Given the description of an element on the screen output the (x, y) to click on. 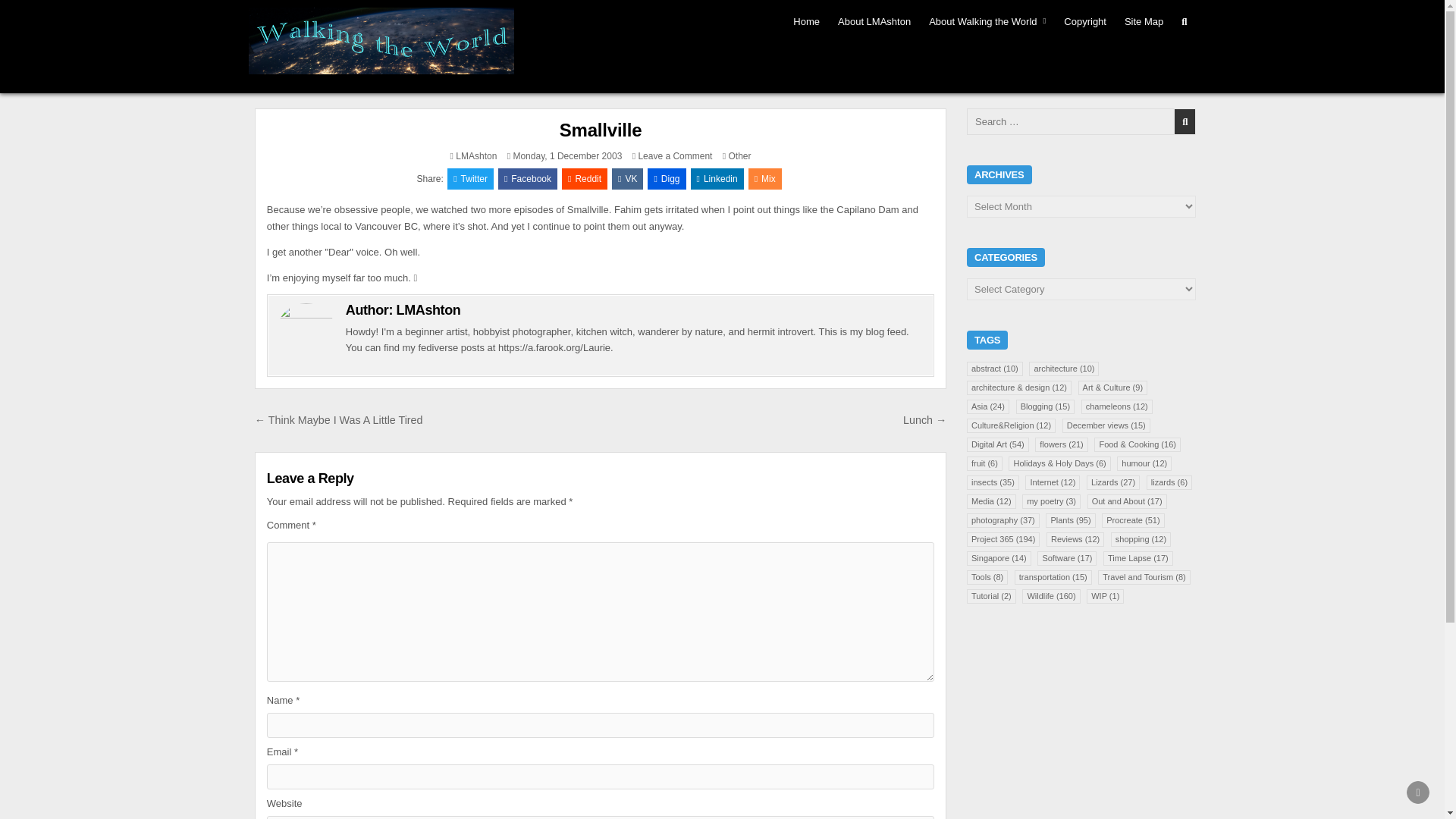
Smallville (600, 129)
Share this on Linkedin (717, 178)
Facebook (527, 178)
About Walking the World (987, 21)
VK (627, 178)
Digg (666, 178)
Share this on Mix (764, 178)
Copyright (1084, 21)
Other (740, 155)
Share this on VK (627, 178)
